Given the description of an element on the screen output the (x, y) to click on. 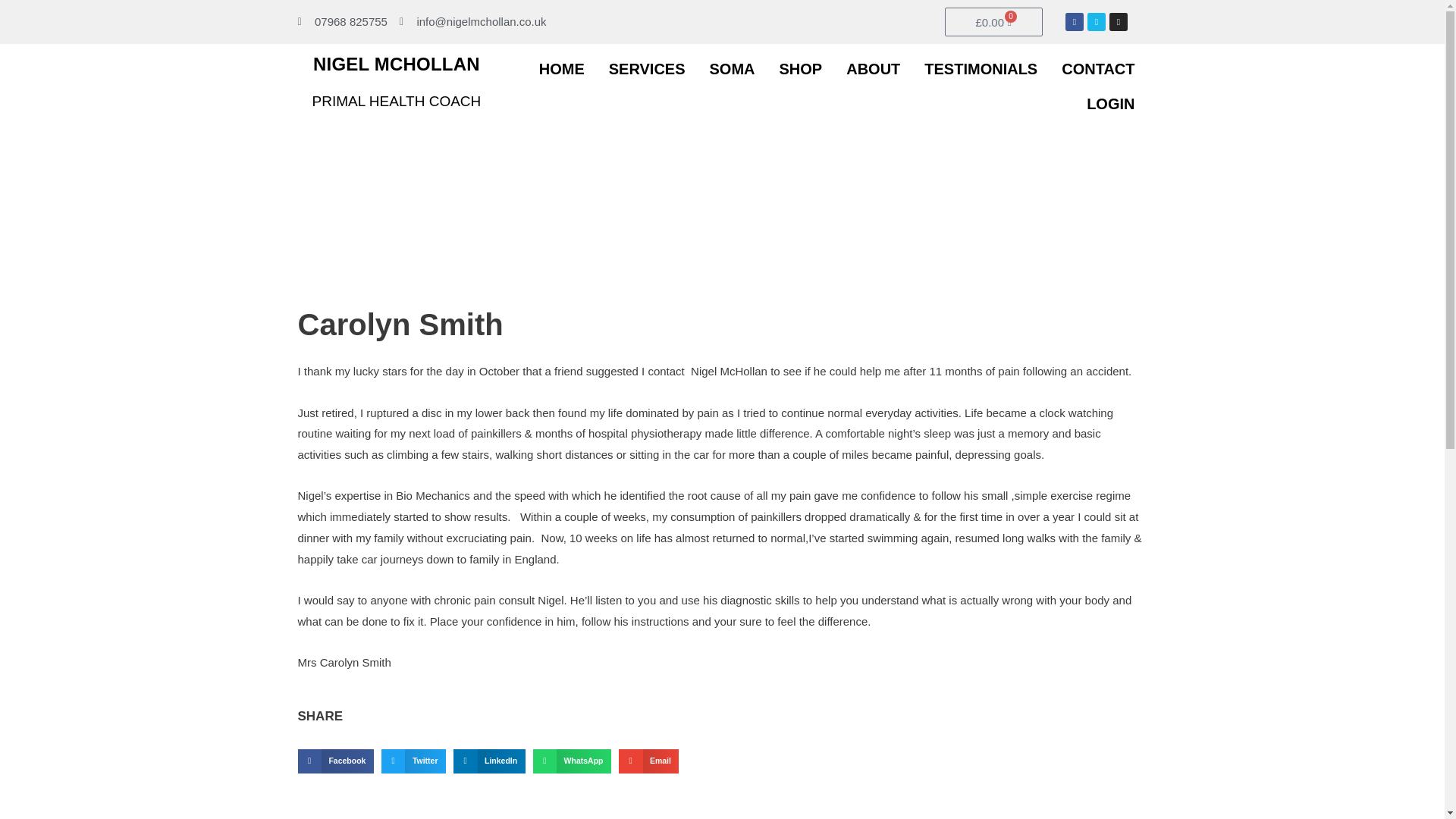
LOGIN (1110, 103)
Instagram (1117, 22)
Vimeo (1096, 22)
SOMA (732, 68)
NIGEL MCHOLLAN (396, 64)
ABOUT (873, 68)
CONTACT (1098, 68)
HOME (561, 68)
TESTIMONIALS (980, 68)
Facebook (1074, 22)
SERVICES (646, 68)
SHOP (800, 68)
